Given the description of an element on the screen output the (x, y) to click on. 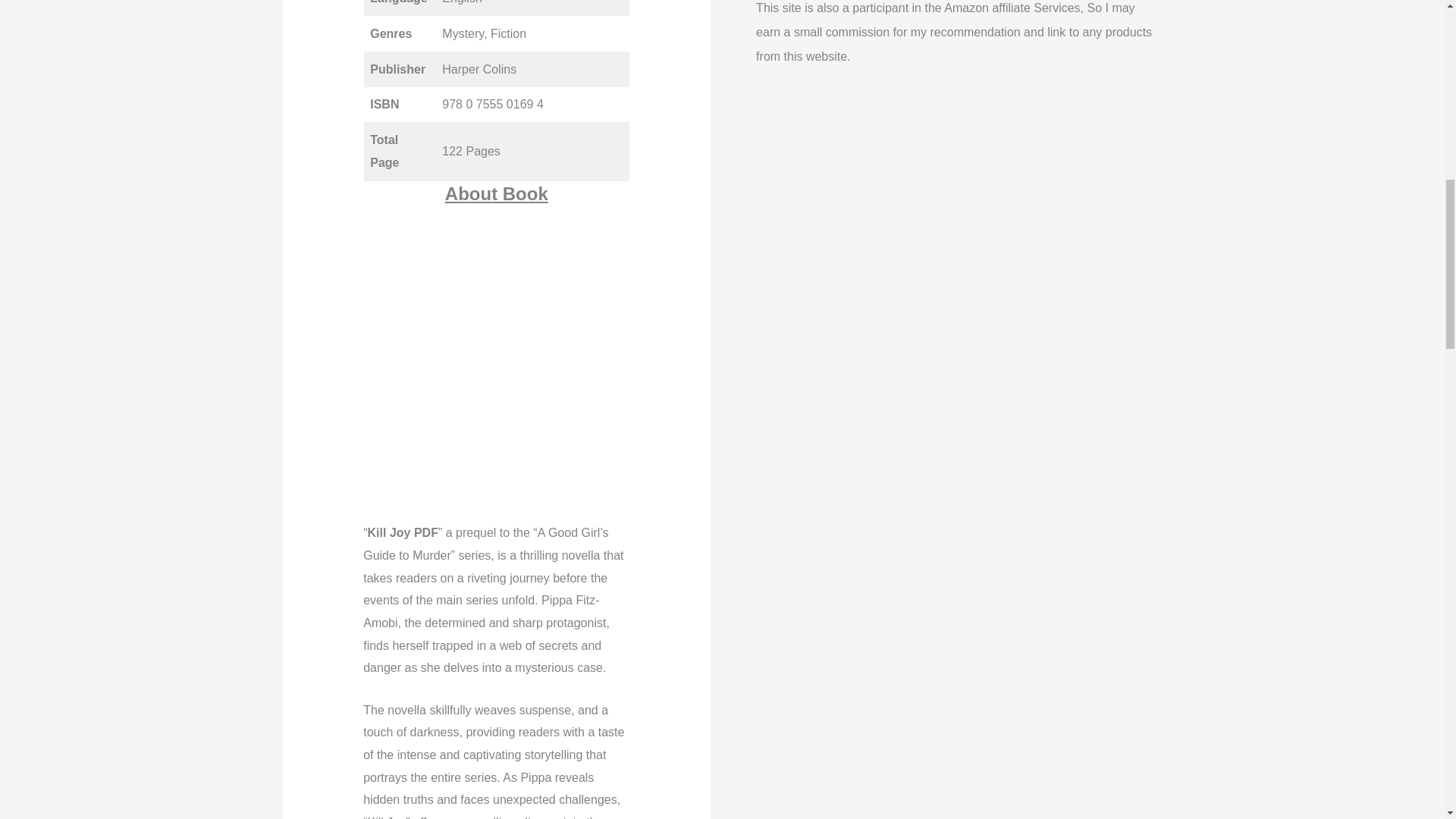
Kill Joy PDF AddictBooks (495, 363)
